Given the description of an element on the screen output the (x, y) to click on. 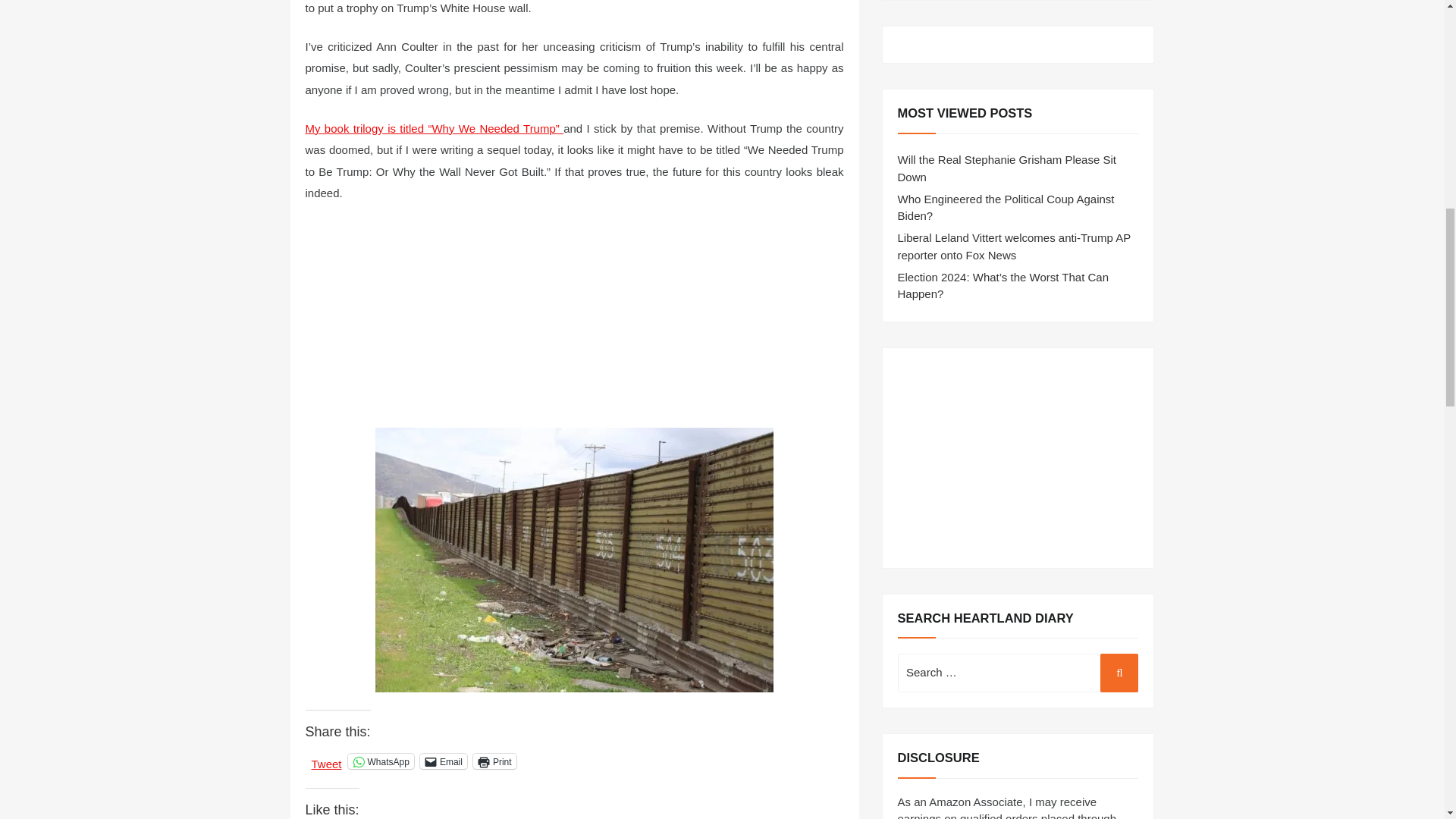
WhatsApp (380, 761)
Email (443, 761)
Tweet (325, 760)
Advertisement (1018, 457)
Click to share on WhatsApp (380, 761)
Print (494, 761)
Click to print (494, 761)
Click to email a link to a friend (443, 761)
